Given the description of an element on the screen output the (x, y) to click on. 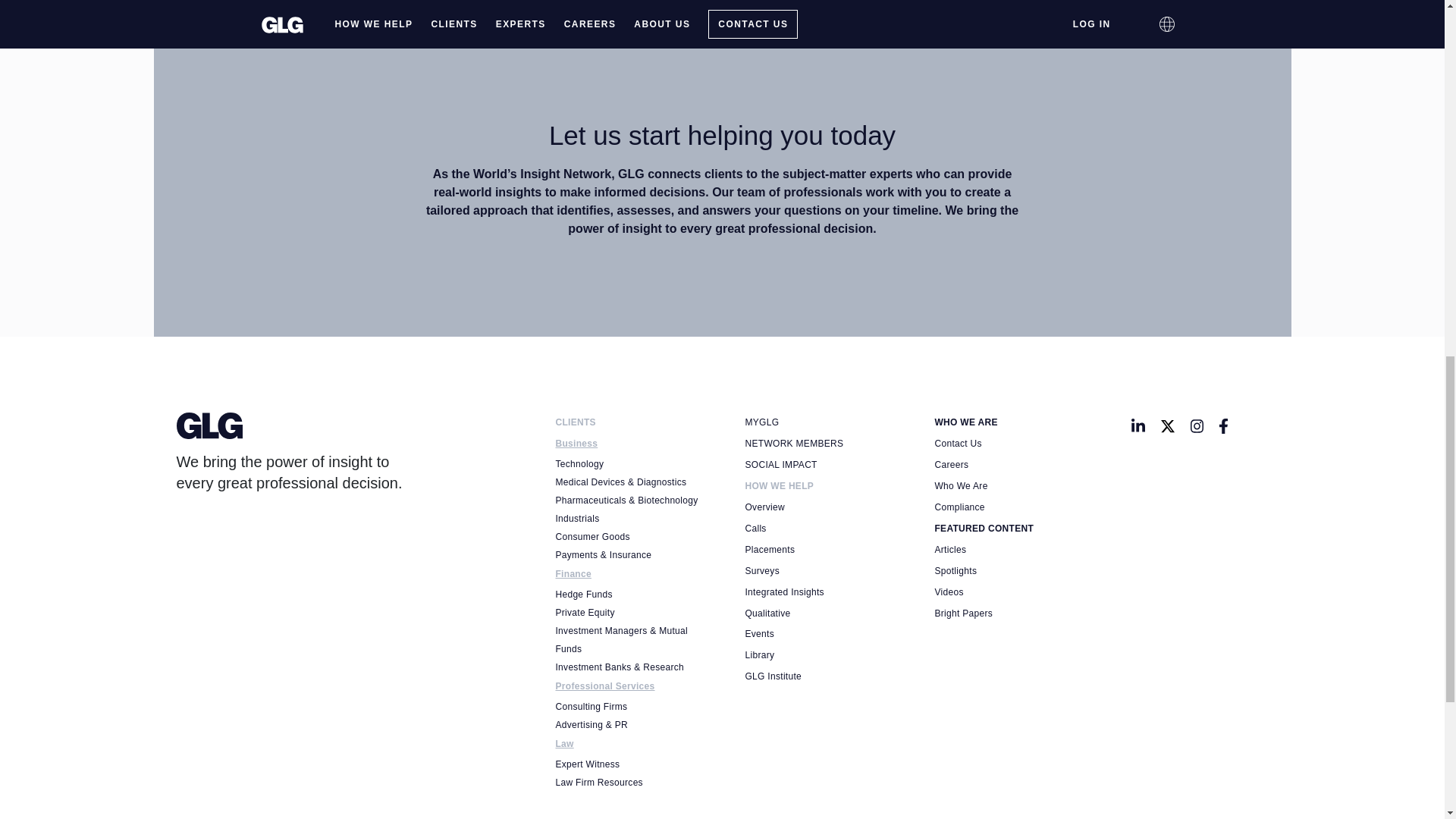
Instagram (1197, 425)
LinkedIn (1137, 425)
Twitter (1167, 425)
